Given the description of an element on the screen output the (x, y) to click on. 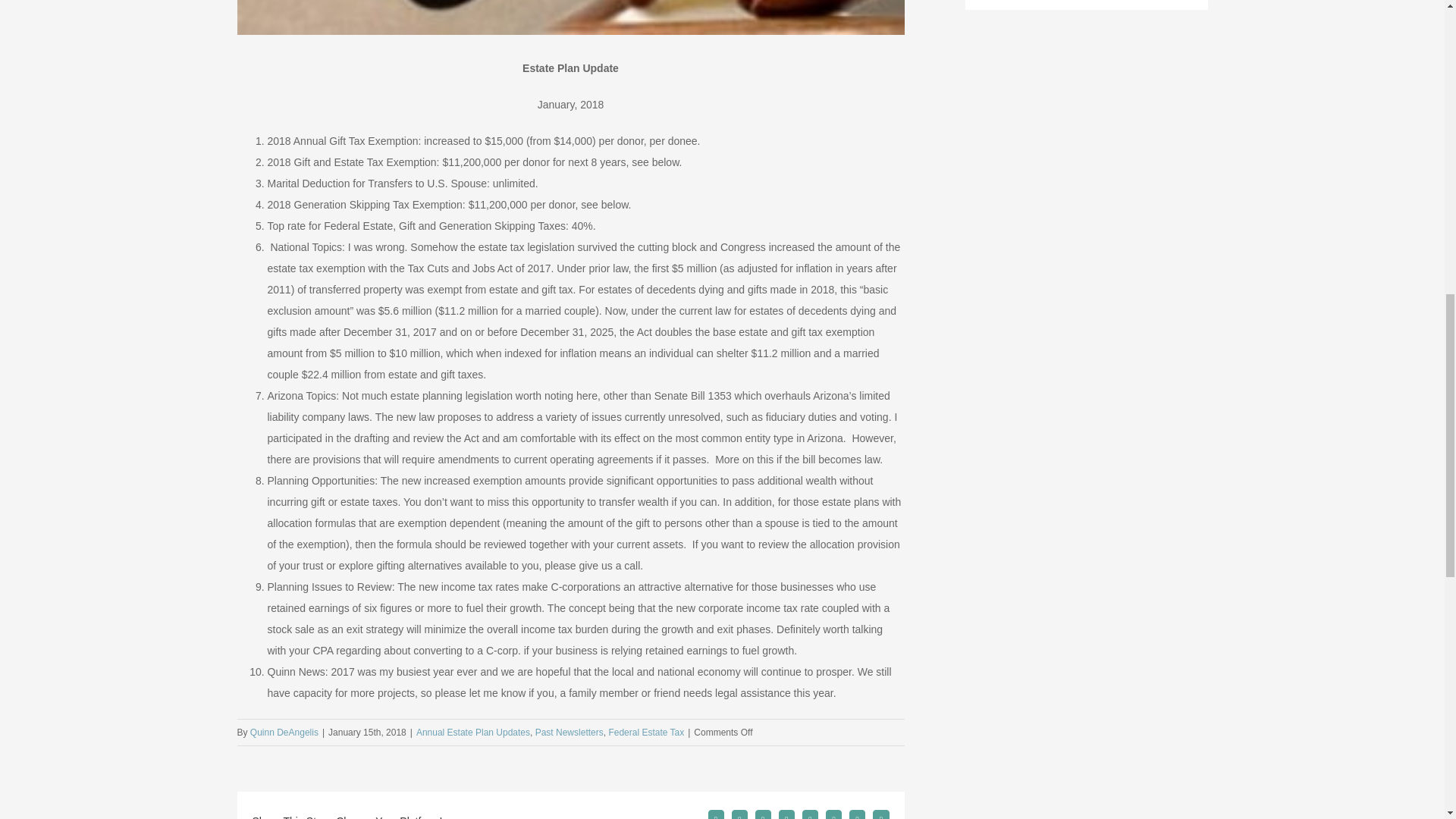
LinkedIn (786, 814)
X (740, 814)
Vk (856, 814)
Facebook (715, 814)
Posts by Quinn DeAngelis (284, 732)
Pinterest (833, 814)
Tumblr (810, 814)
Email (880, 814)
Reddit (763, 814)
